Given the description of an element on the screen output the (x, y) to click on. 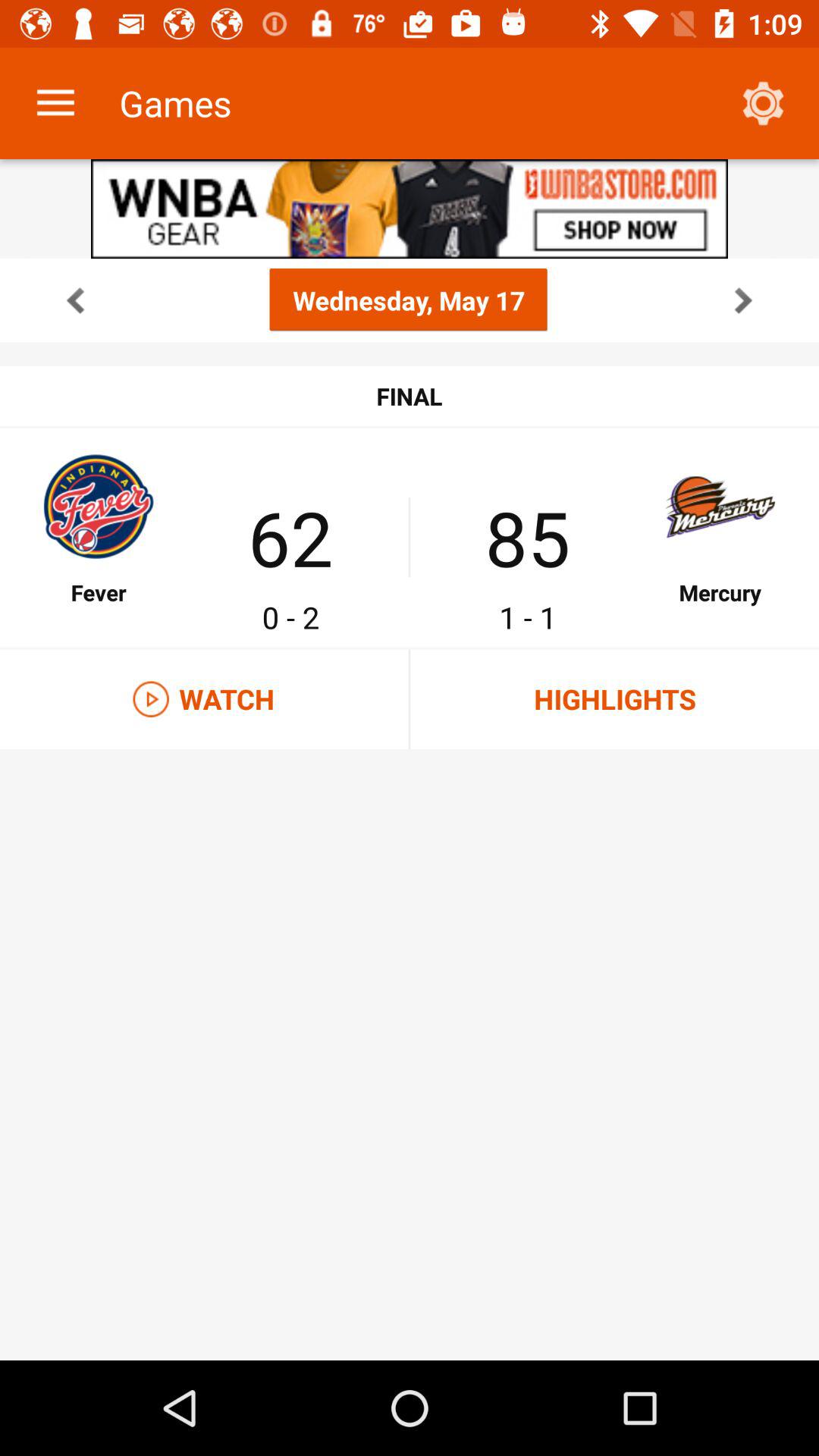
click add (409, 208)
